Given the description of an element on the screen output the (x, y) to click on. 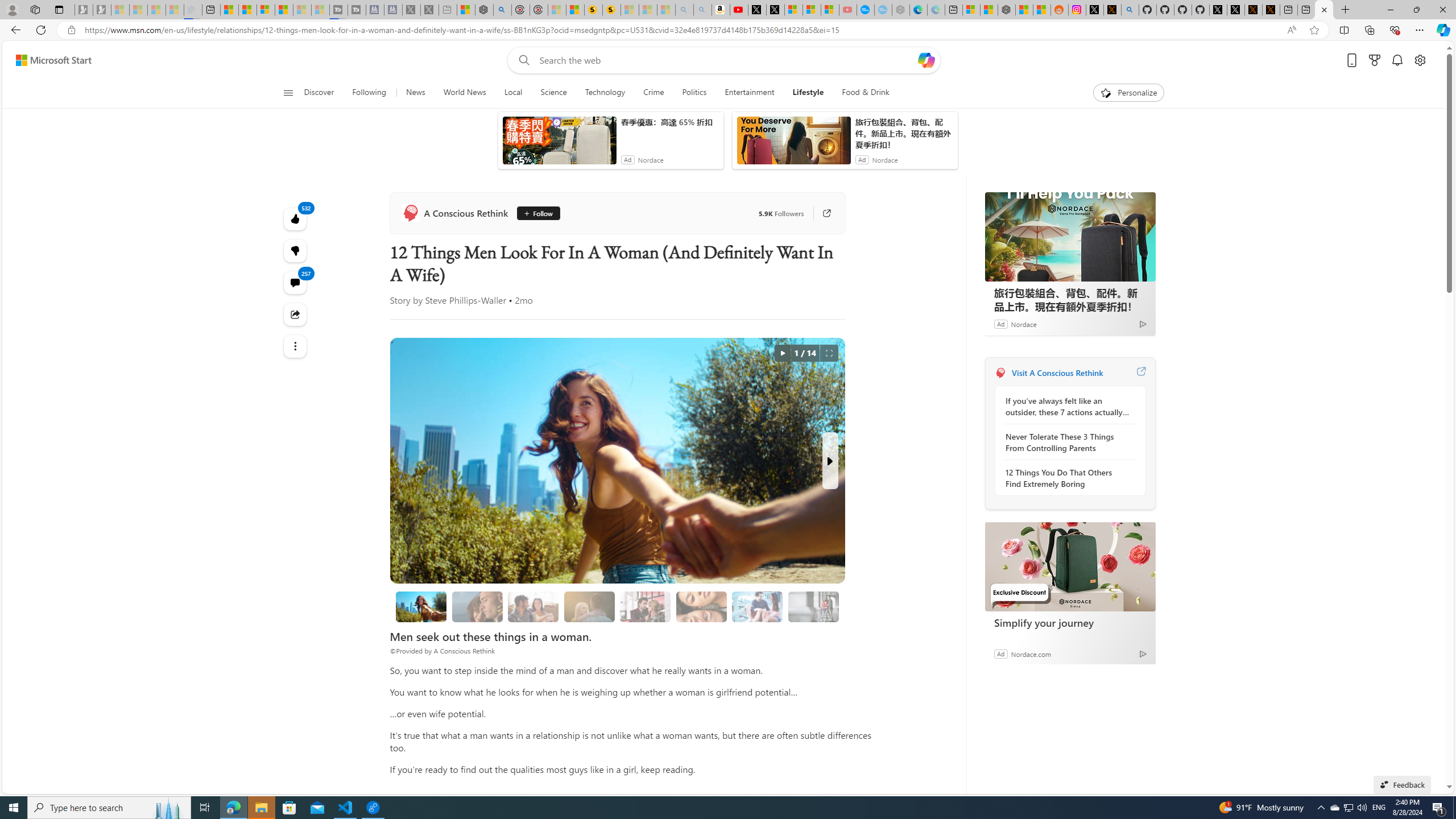
Traffic (816, 151)
4k Like (656, 326)
amazon - Search - Sleeping (671, 9)
AutomationID: tab-13 (429, 328)
Microsoft account | Microsoft Account Privacy Settings (953, 9)
Should I save recovered Word documents? - Microsoft Support (519, 49)
5 Like (651, 327)
Animals Around The Globe (US) (647, 270)
Class: weather-arrow-glyph (1152, 208)
Play (465, 151)
Search icon (70, 29)
33 Like (479, 505)
